Given the description of an element on the screen output the (x, y) to click on. 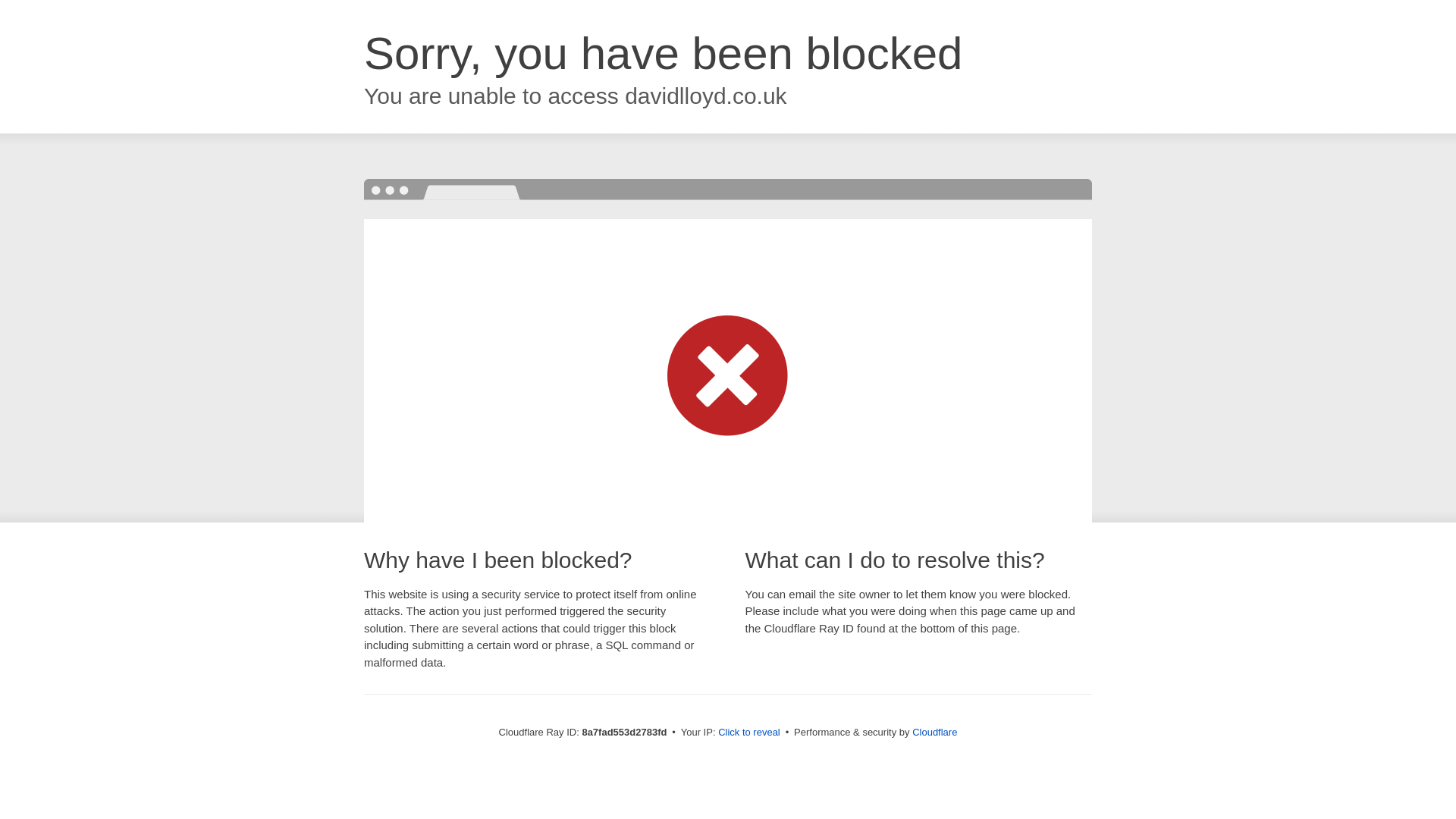
Click to reveal (748, 732)
Cloudflare (934, 731)
